Given the description of an element on the screen output the (x, y) to click on. 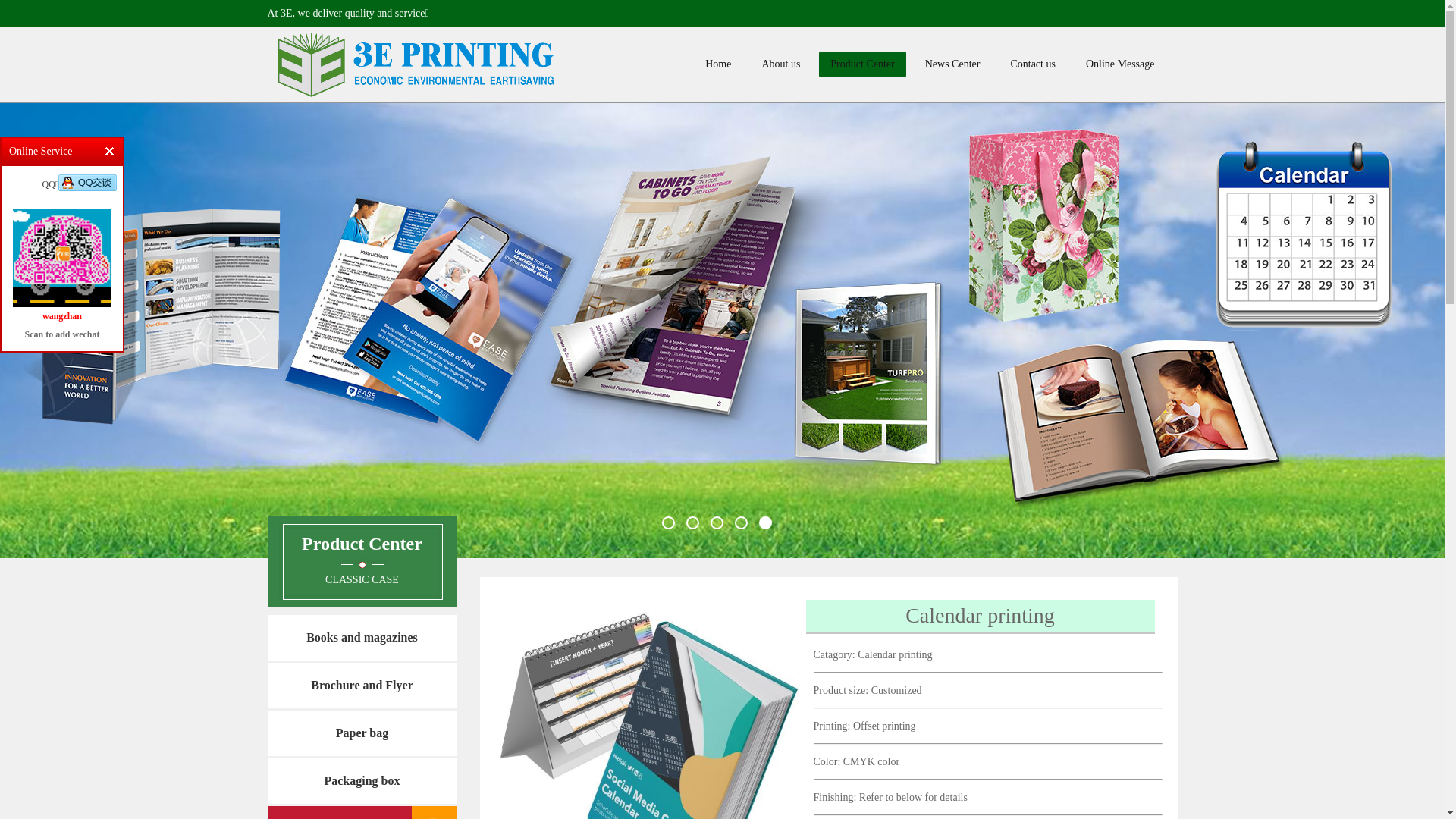
Contact us Element type: text (1032, 64)
Packaging box Element type: text (361, 780)
About us Element type: text (780, 64)
3e printing Element type: hover (418, 65)
Product Center Element type: text (862, 64)
Scan to add wechat Element type: hover (61, 257)
Paper bag Element type: text (361, 733)
News Center Element type: text (952, 64)
Books and magazines Element type: text (361, 637)
Brochure and Flyer Element type: text (361, 685)
Online Message Element type: text (1120, 64)
Home Element type: text (717, 64)
